Given the description of an element on the screen output the (x, y) to click on. 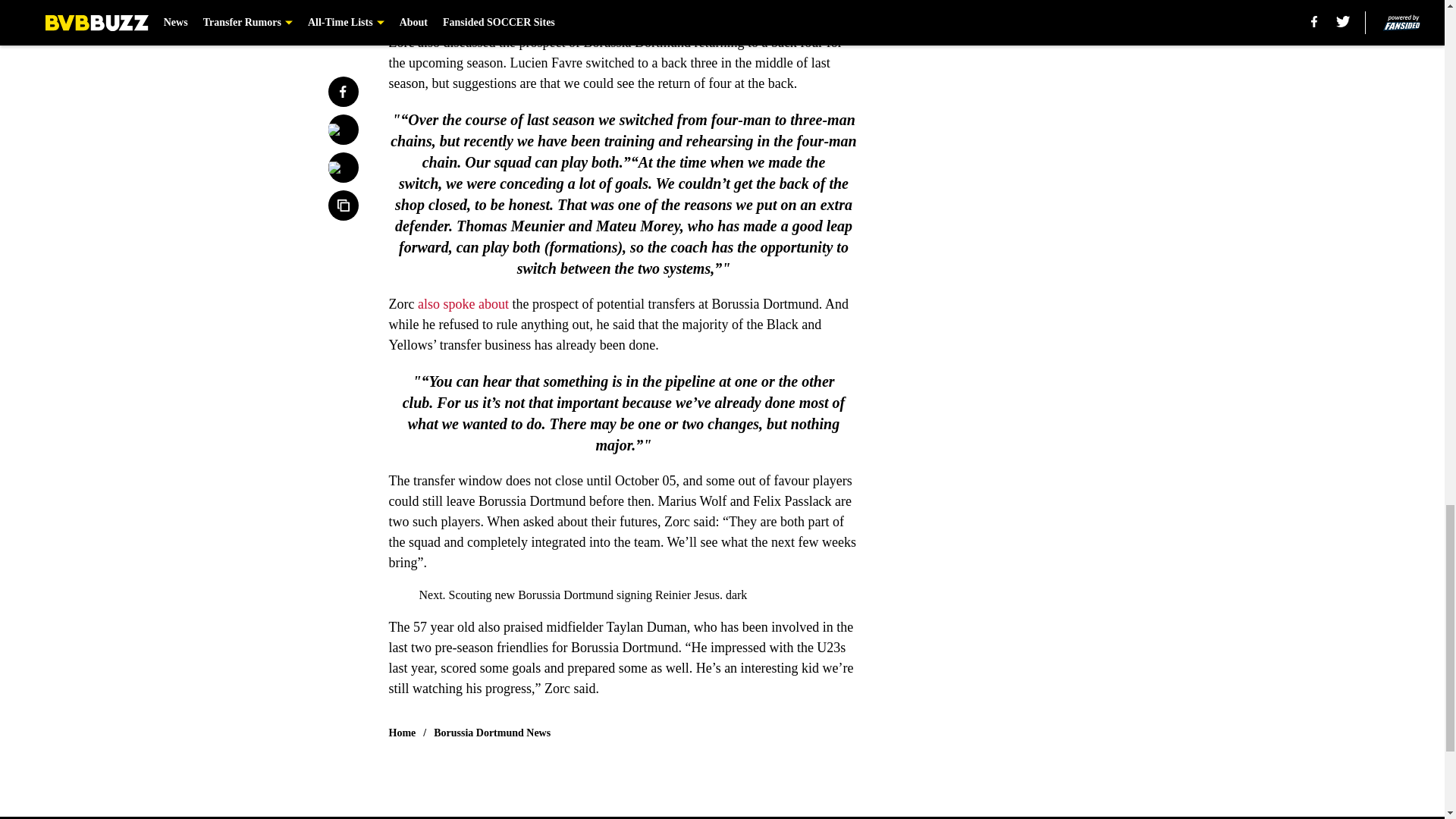
Home (401, 733)
Borussia Dortmund News (491, 733)
also spoke about (462, 304)
